Given the description of an element on the screen output the (x, y) to click on. 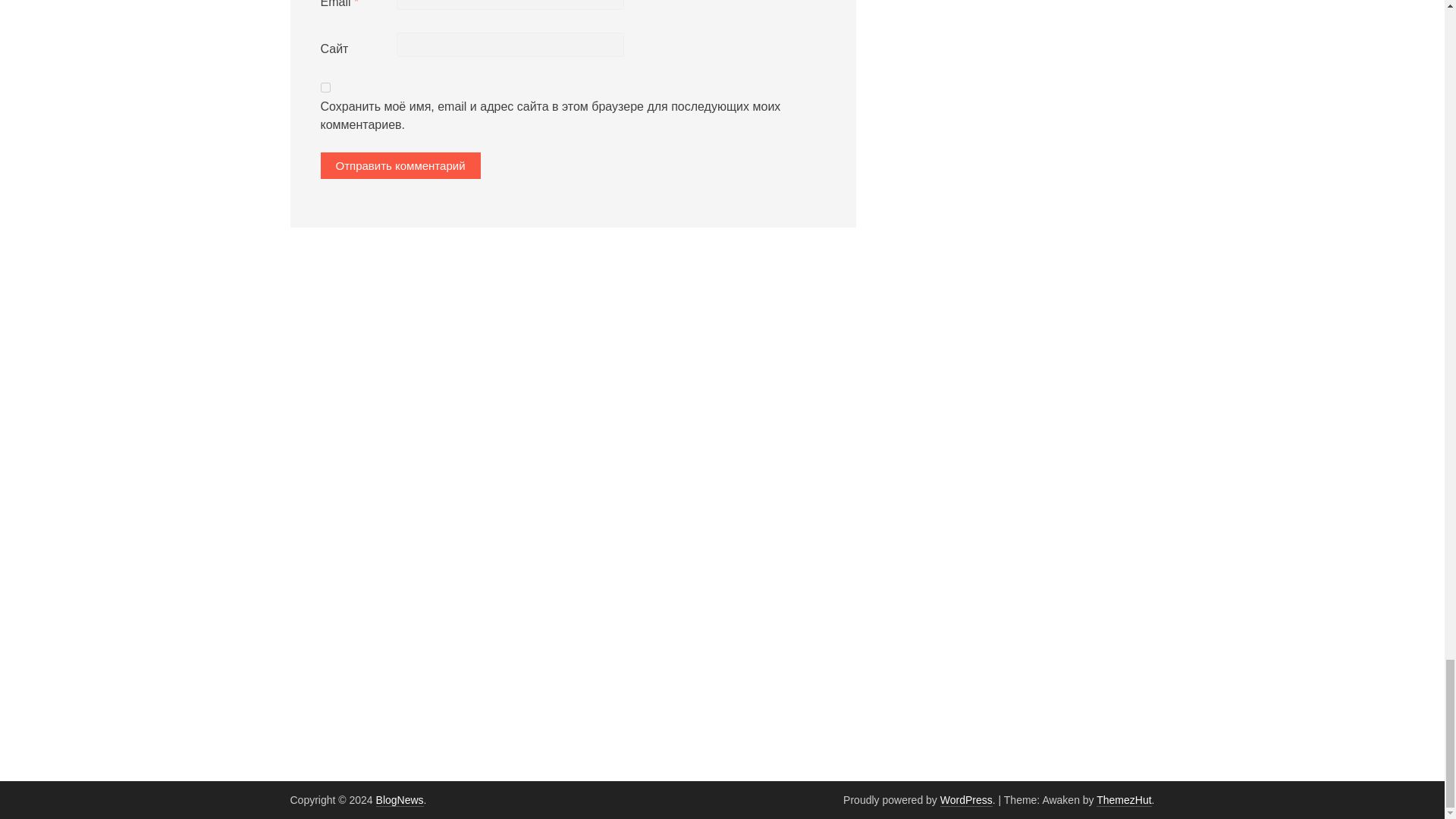
WordPress (966, 799)
WordPress (966, 799)
BlogNews (399, 799)
yes (325, 87)
BlogNews (399, 799)
ThemezHut (1123, 799)
